Given the description of an element on the screen output the (x, y) to click on. 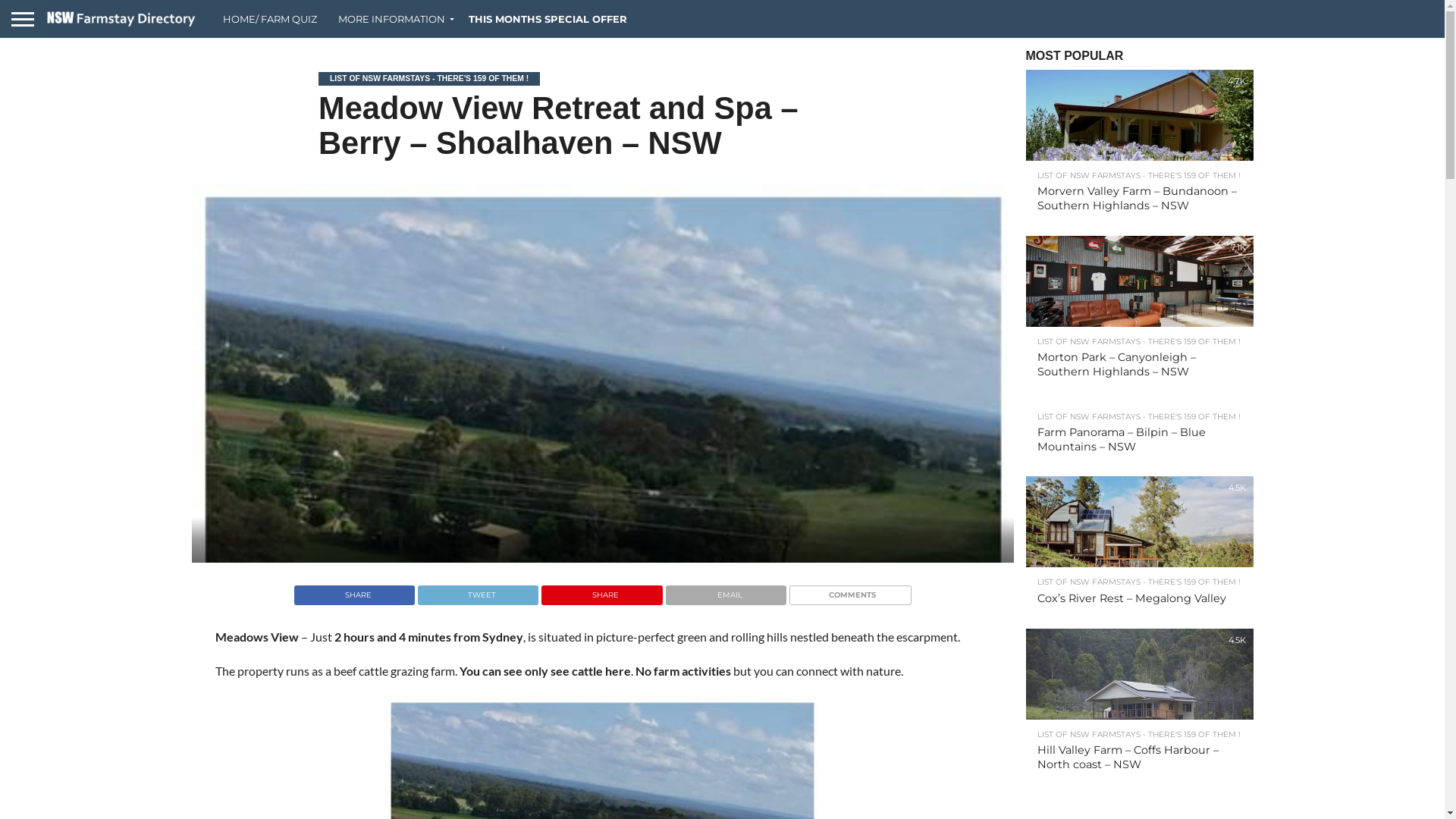
HOME/ FARM QUIZ Element type: text (269, 18)
EMAIL Element type: text (725, 590)
THIS MONTHS SPECIAL OFFER Element type: text (547, 18)
SHARE Element type: text (354, 590)
SHARE Element type: text (601, 590)
COMMENTS Element type: text (849, 590)
TWEET Element type: text (477, 590)
MORE INFORMATION Element type: text (392, 18)
